Given the description of an element on the screen output the (x, y) to click on. 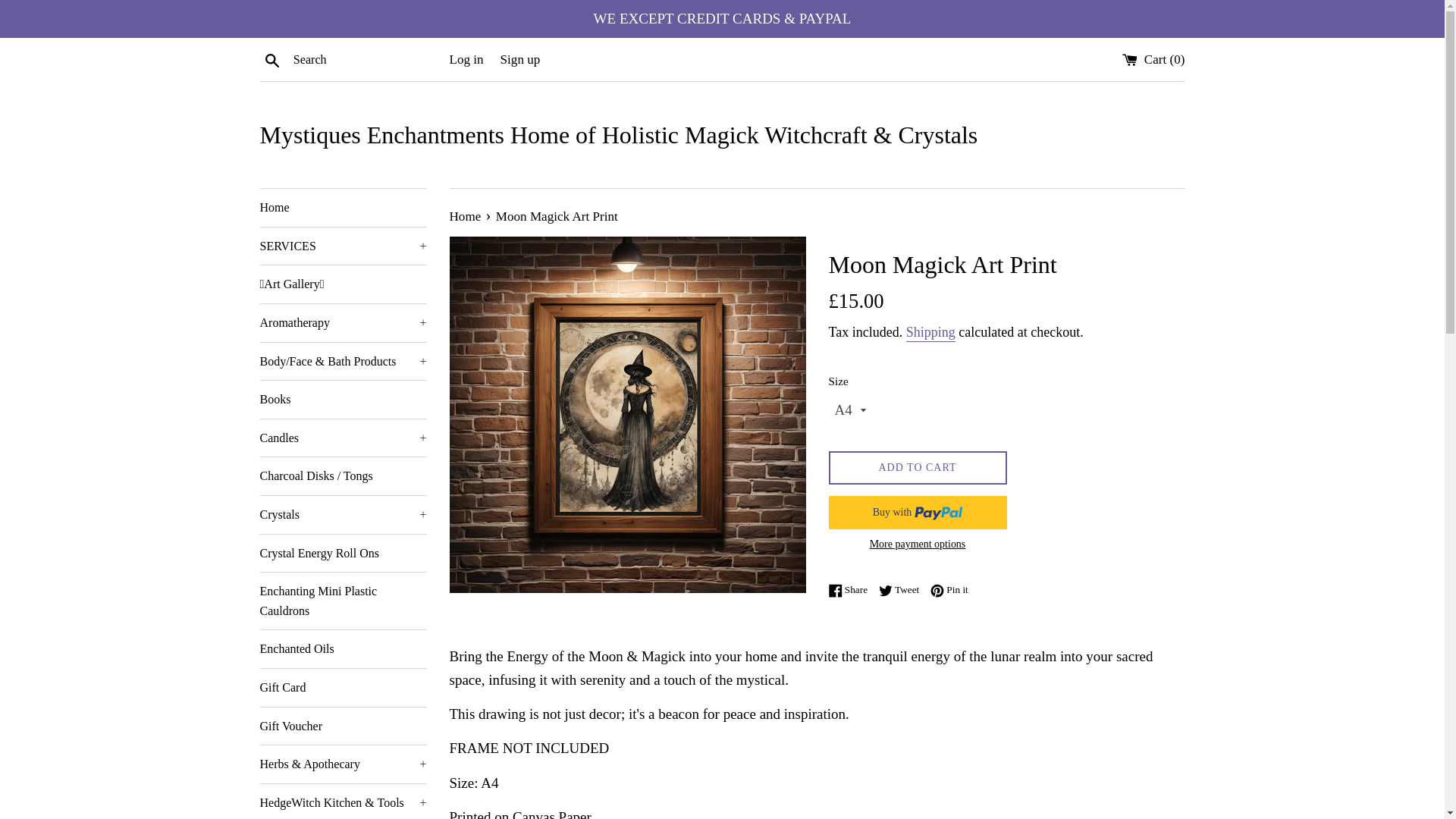
Sign up (520, 59)
Tweet on Twitter (902, 589)
Share on Facebook (851, 589)
Search (271, 58)
Pin on Pinterest (949, 589)
Home (342, 207)
Back to the frontpage (465, 216)
Log in (465, 59)
